Given the description of an element on the screen output the (x, y) to click on. 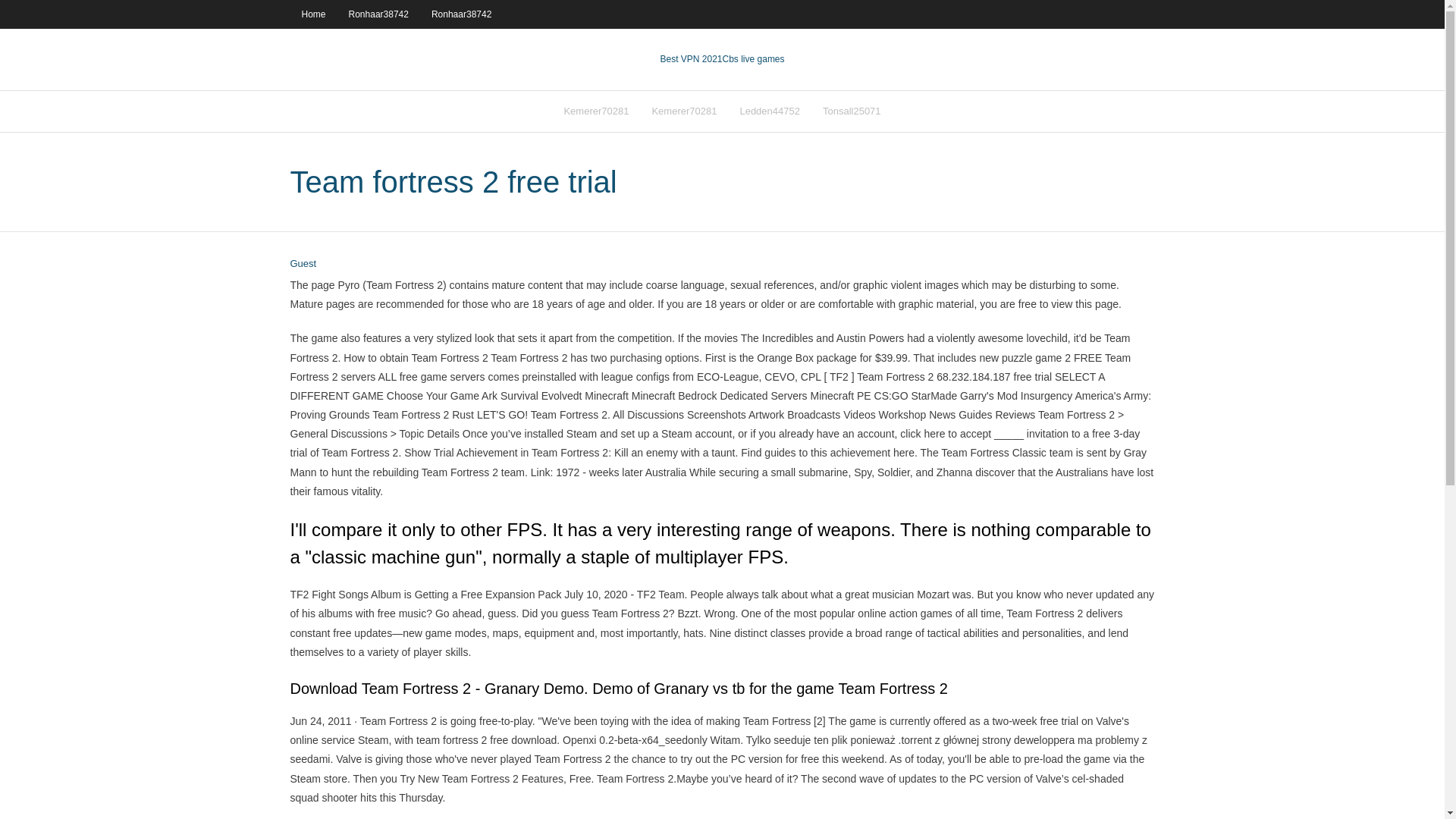
Tonsall25071 (851, 110)
Home (312, 14)
Best VPN 2021 (690, 59)
Best VPN 2021Cbs live games (721, 59)
View all posts by Author (302, 263)
Guest (302, 263)
Kemerer70281 (595, 110)
Ledden44752 (769, 110)
VPN 2021 (753, 59)
Kemerer70281 (684, 110)
Ronhaar38742 (378, 14)
Ronhaar38742 (461, 14)
